Given the description of an element on the screen output the (x, y) to click on. 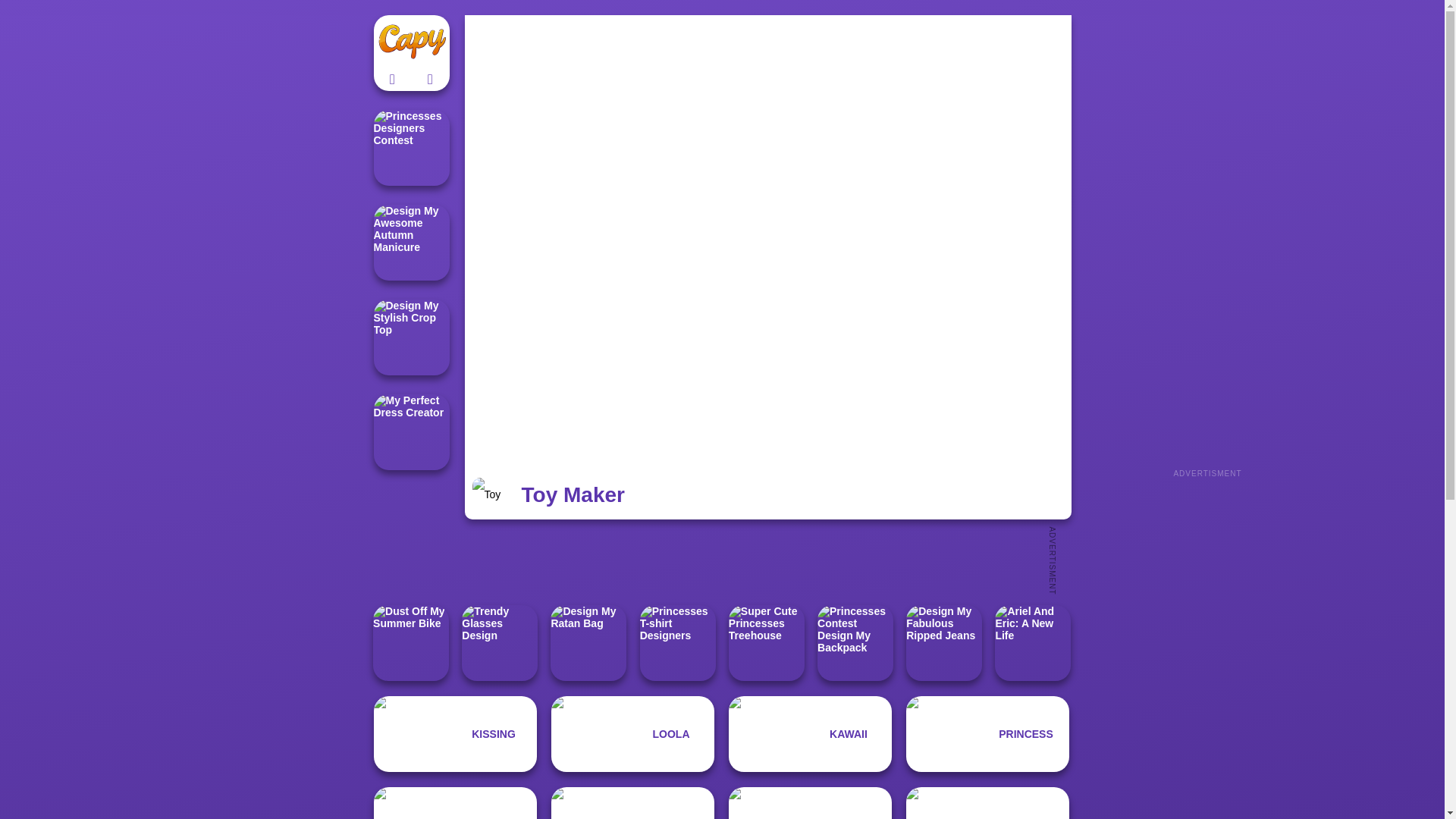
Fashion (632, 803)
EASTER (455, 803)
FASHION (632, 803)
Princess (986, 734)
Easter (455, 803)
LOOLA (632, 734)
Dust Off My Summer Bike (410, 642)
Kissing (455, 734)
FROZEN (986, 803)
KISSING (455, 734)
Design My Ratan Bag (588, 642)
Design My Fabulous Ripped Jeans (943, 642)
Princesses Contest Design My Backpack (854, 642)
DECORATION (810, 803)
Design My Awesome Autumn Manicure (410, 242)
